Given the description of an element on the screen output the (x, y) to click on. 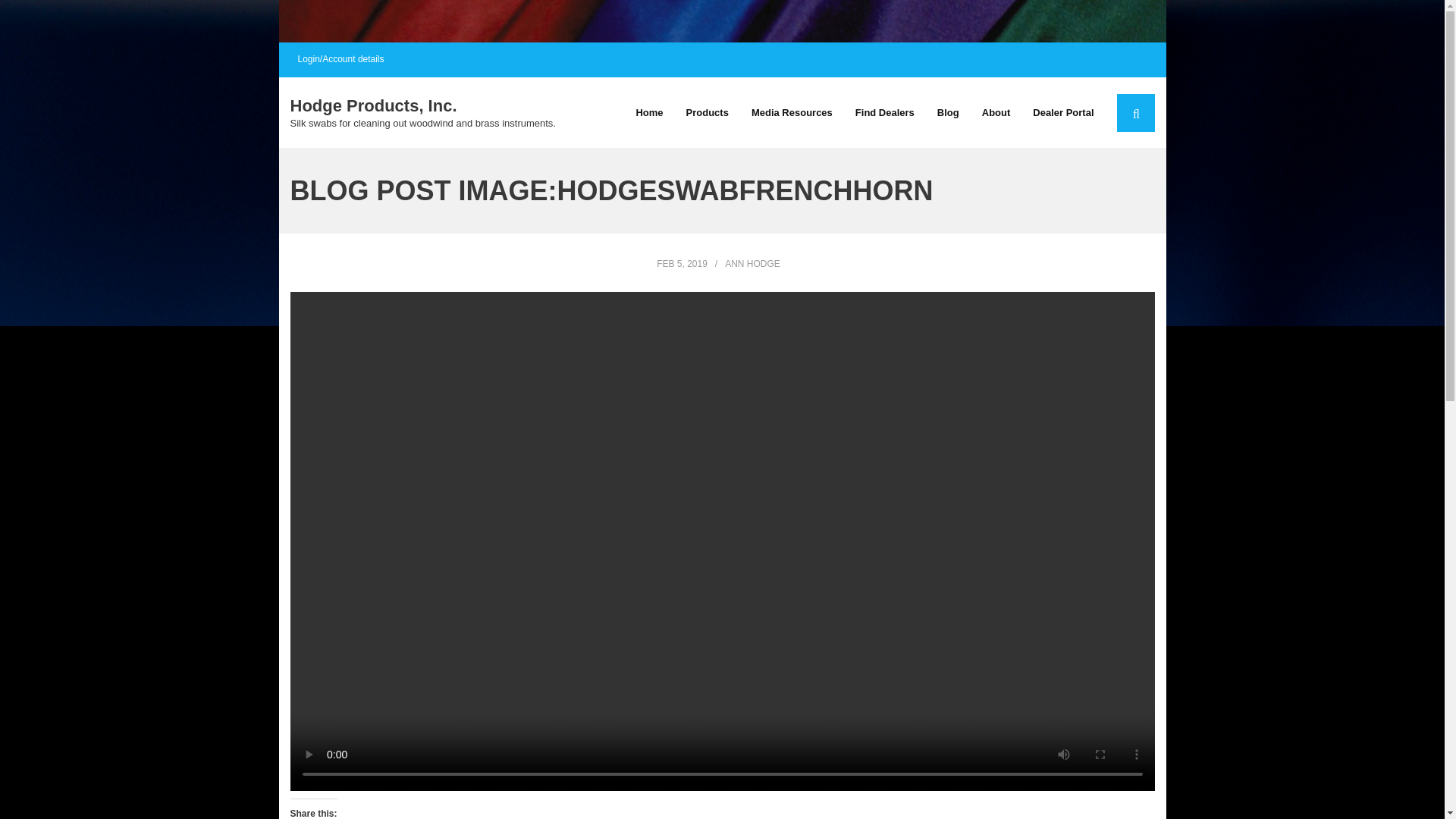
Silk swabs for cleaning out woodwind and brass instruments. (421, 122)
View all posts by Ann Hodge (752, 263)
Products (707, 112)
Media Resources (791, 112)
HodgeSwabFrenchHorn (681, 263)
Search (44, 22)
Hodge Products, Inc. (421, 106)
Dealer Portal (1063, 112)
Find Dealers (885, 112)
